Given the description of an element on the screen output the (x, y) to click on. 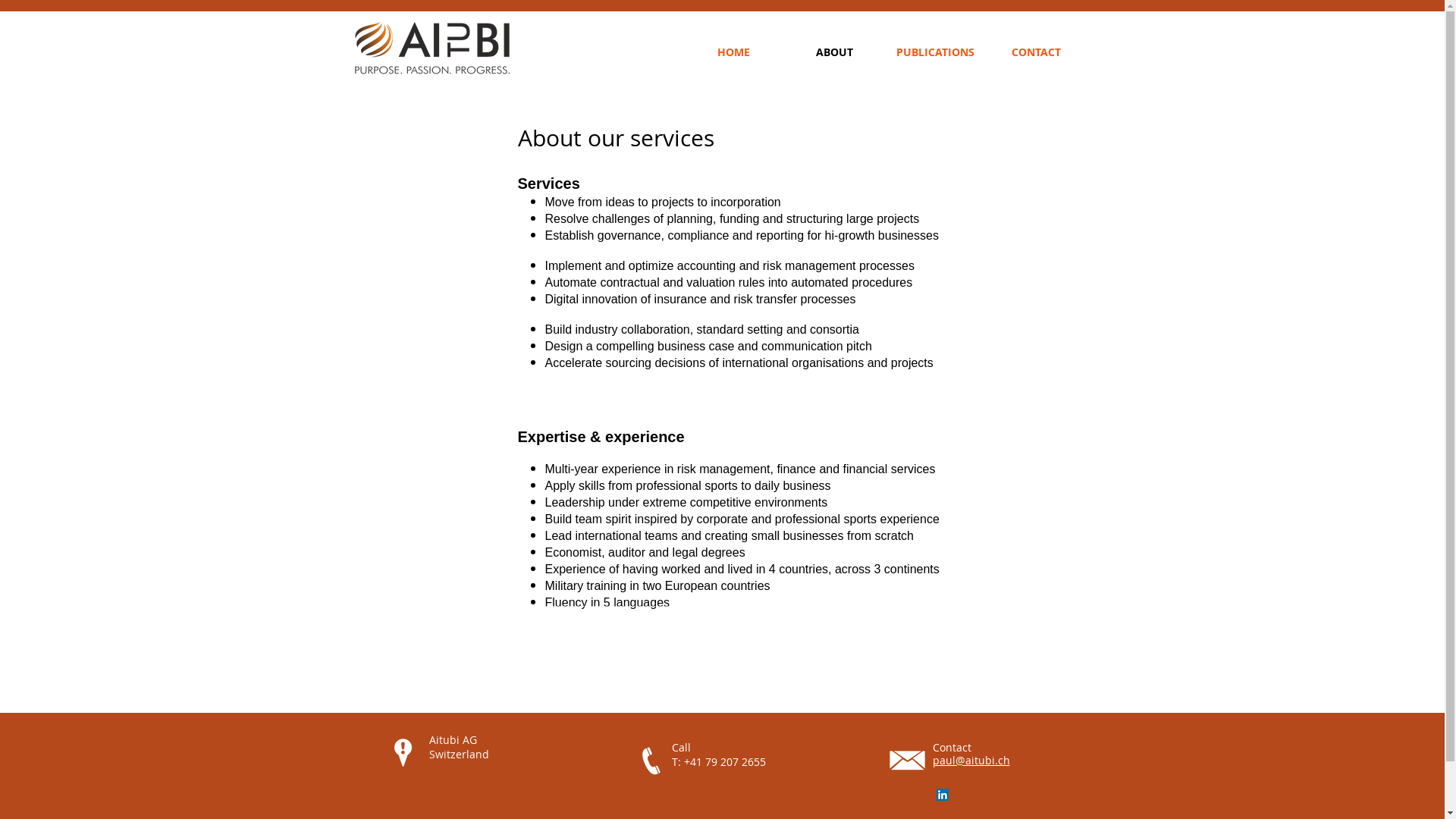
PUBLICATIONS Element type: text (934, 51)
HOME Element type: text (732, 51)
paul@aitubi.ch Element type: text (971, 760)
CONTACT Element type: text (1035, 51)
ABOUT Element type: text (834, 51)
